Given the description of an element on the screen output the (x, y) to click on. 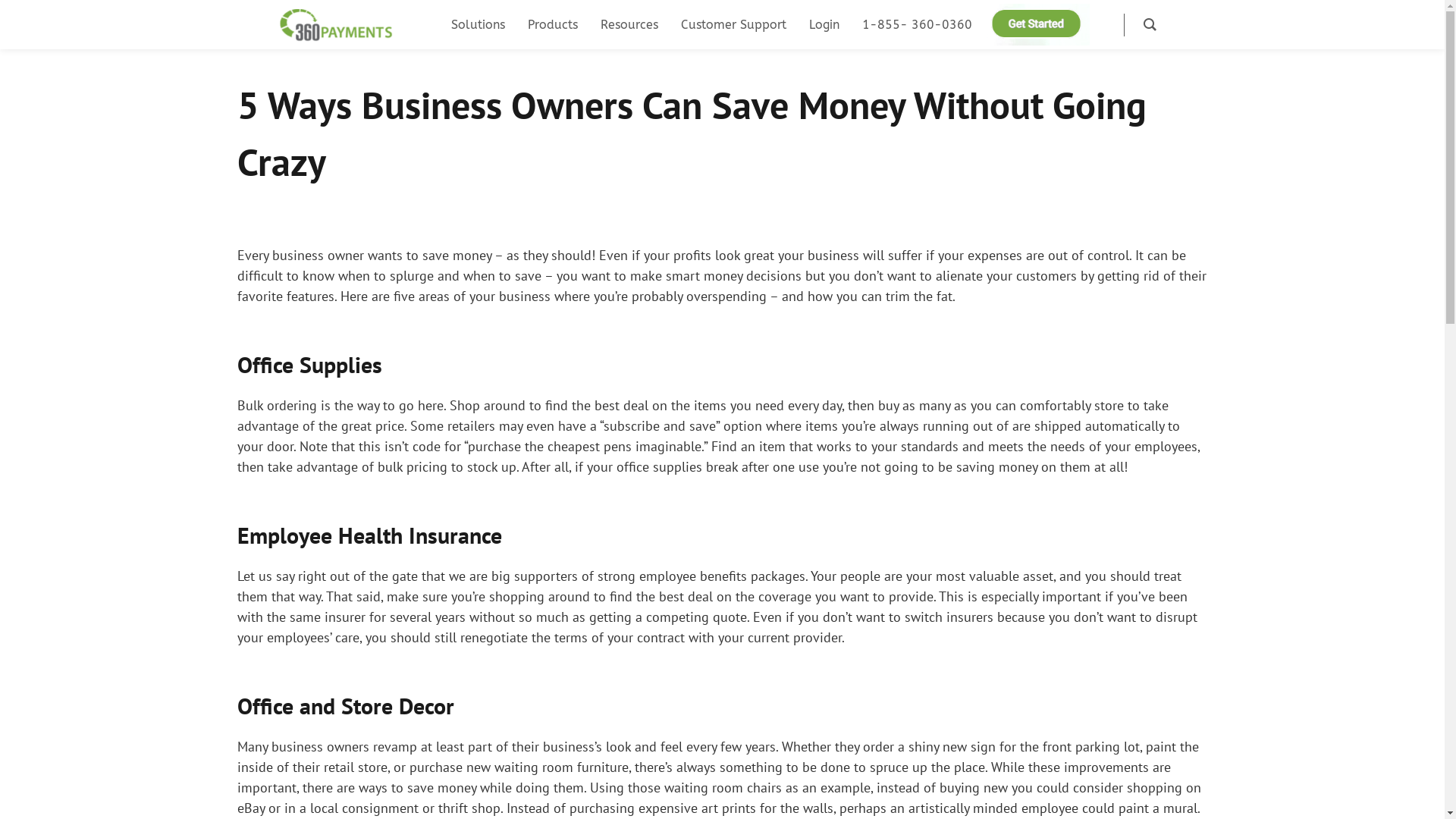
Products Element type: text (552, 24)
  Element type: text (1102, 24)
Solutions Element type: text (478, 24)
Resources Element type: text (629, 24)
Login Element type: text (824, 24)
Customer Support Element type: text (733, 24)
